Given the description of an element on the screen output the (x, y) to click on. 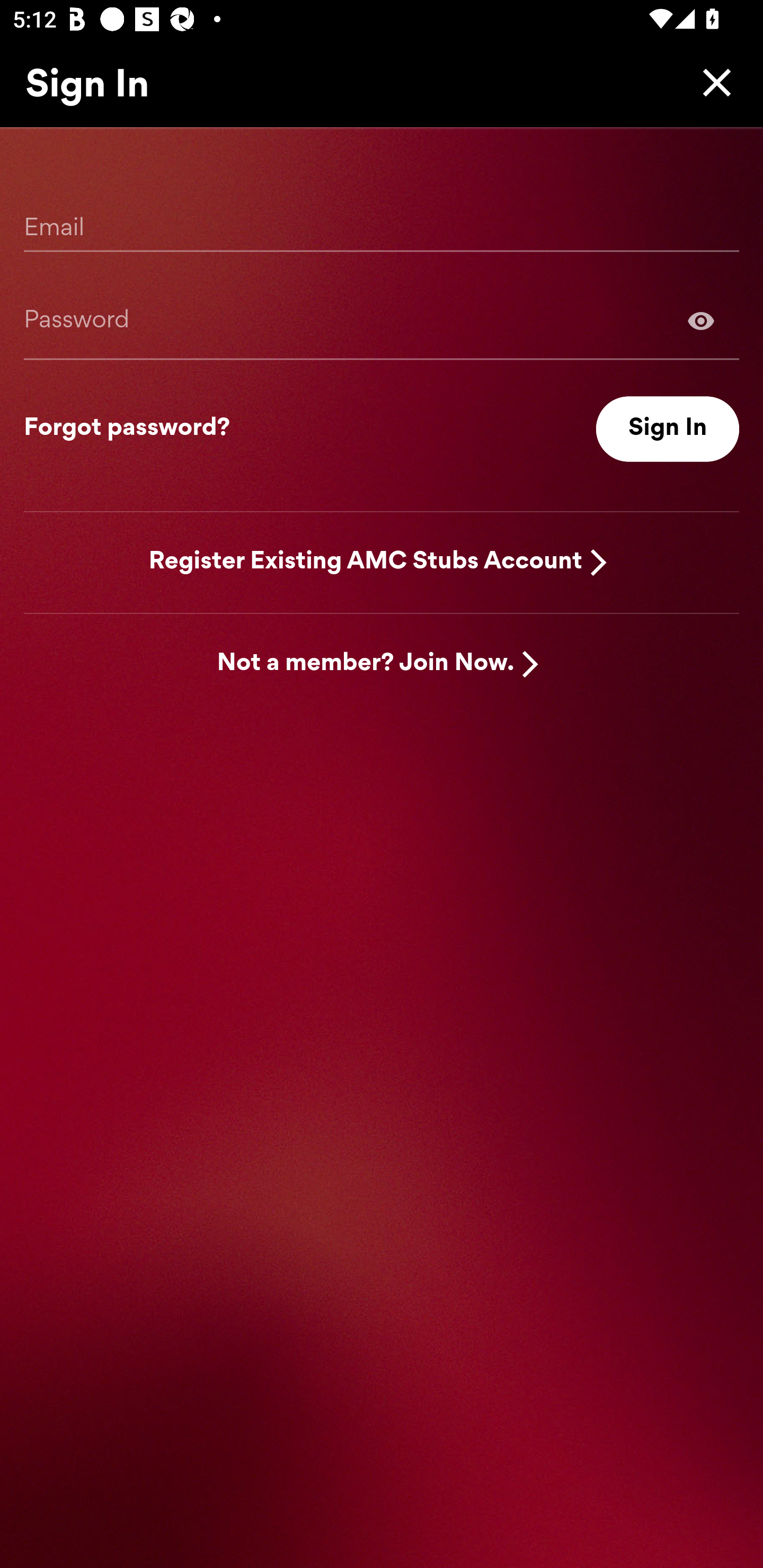
Close (712, 82)
Show Password (381, 320)
Show Password (701, 320)
Forgot password? (126, 428)
Sign In (667, 428)
Register Existing AMC Stubs Account (365, 561)
Not a member? Join Now. (365, 663)
